Given the description of an element on the screen output the (x, y) to click on. 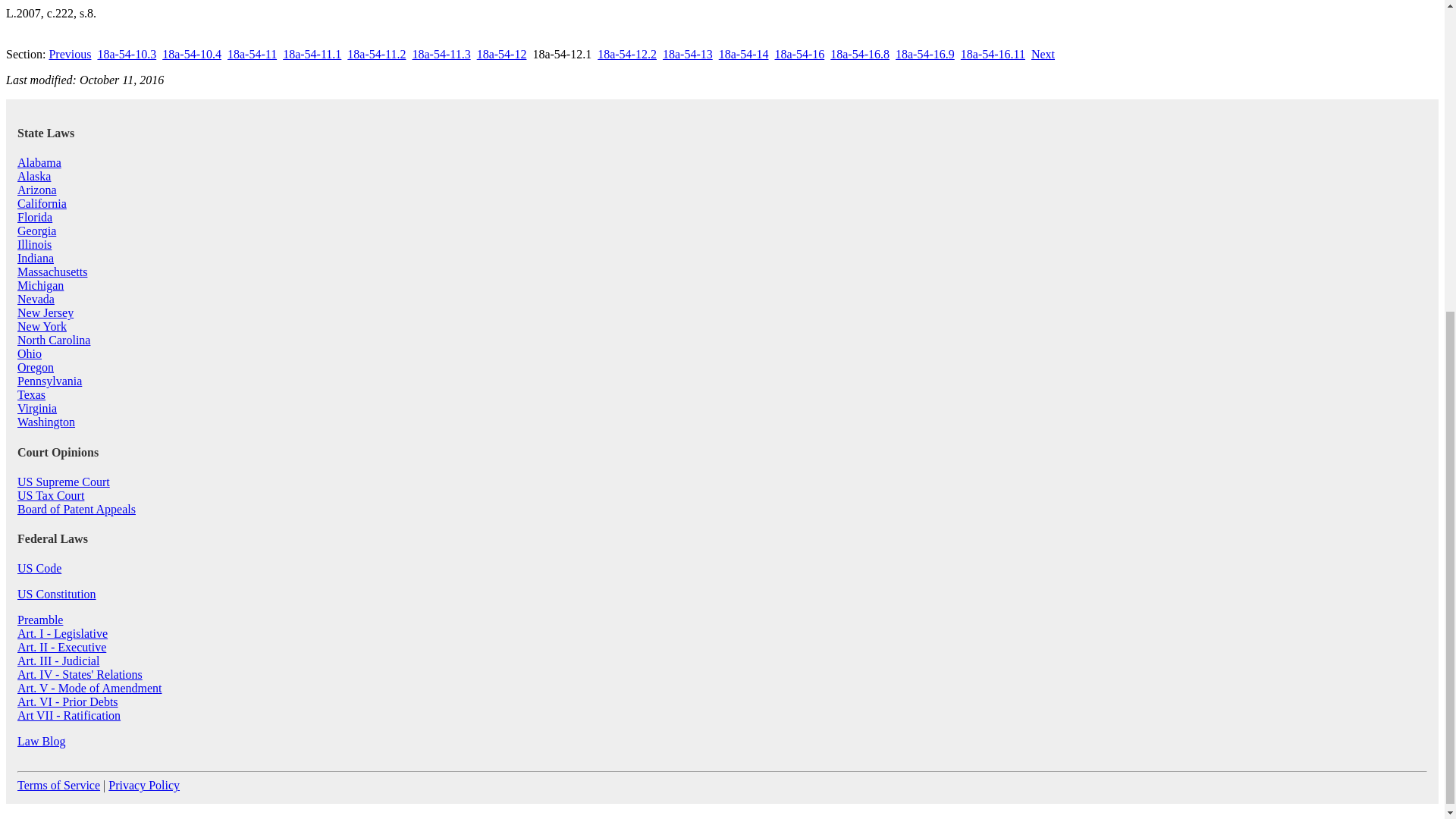
Indiana (35, 257)
18a-54-10.4 (191, 53)
Alabama (39, 162)
Alaska (33, 175)
Massachusetts (52, 271)
New Jersey (45, 312)
18a-54-11.3 (441, 53)
18a-54-11.2 (376, 53)
Florida (34, 216)
18a-54-14 (743, 53)
North Carolina (53, 339)
Michigan (40, 285)
Illinois (33, 244)
Next (1042, 53)
Georgia (36, 230)
